Given the description of an element on the screen output the (x, y) to click on. 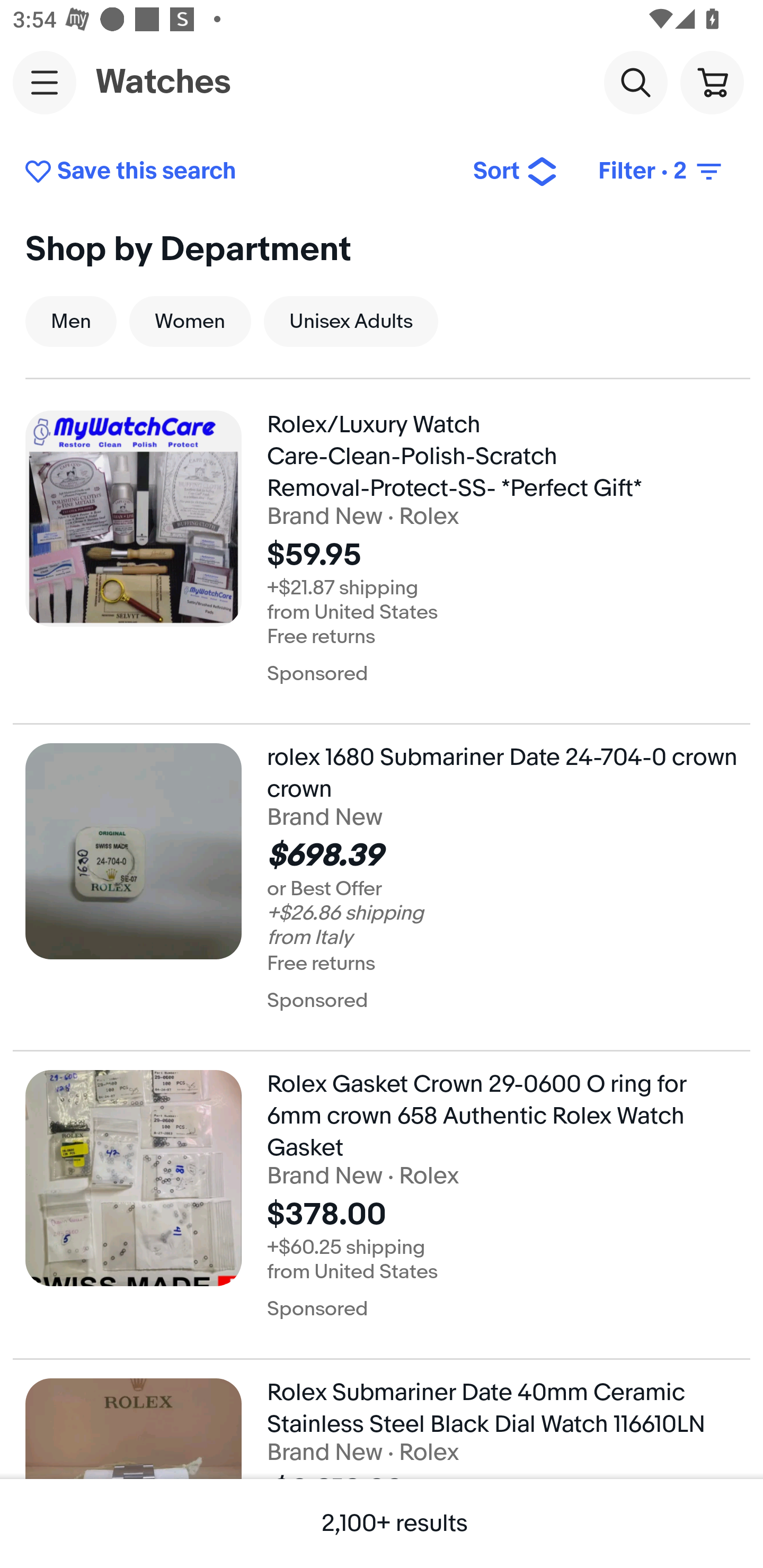
Main navigation, open (44, 82)
Search (635, 81)
Cart button shopping cart (711, 81)
Save this search (235, 171)
Sort (515, 171)
Filter • 2 Filter (2 applied) (661, 171)
Men Men, Department (70, 321)
Women Women, Department (189, 321)
Unisex Adults Unisex Adults, Department (350, 321)
